Given the description of an element on the screen output the (x, y) to click on. 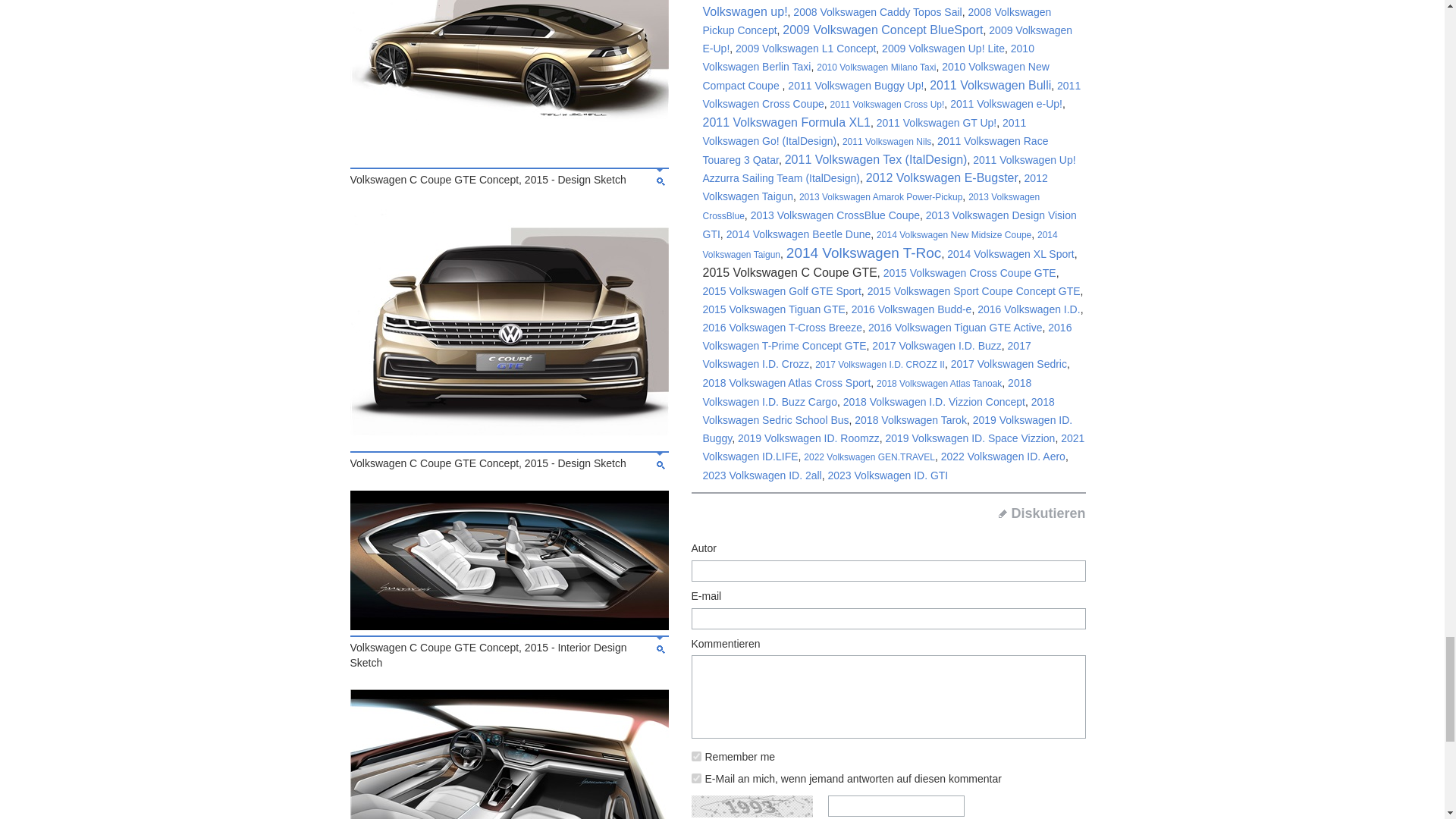
on (696, 756)
on (696, 777)
